Given the description of an element on the screen output the (x, y) to click on. 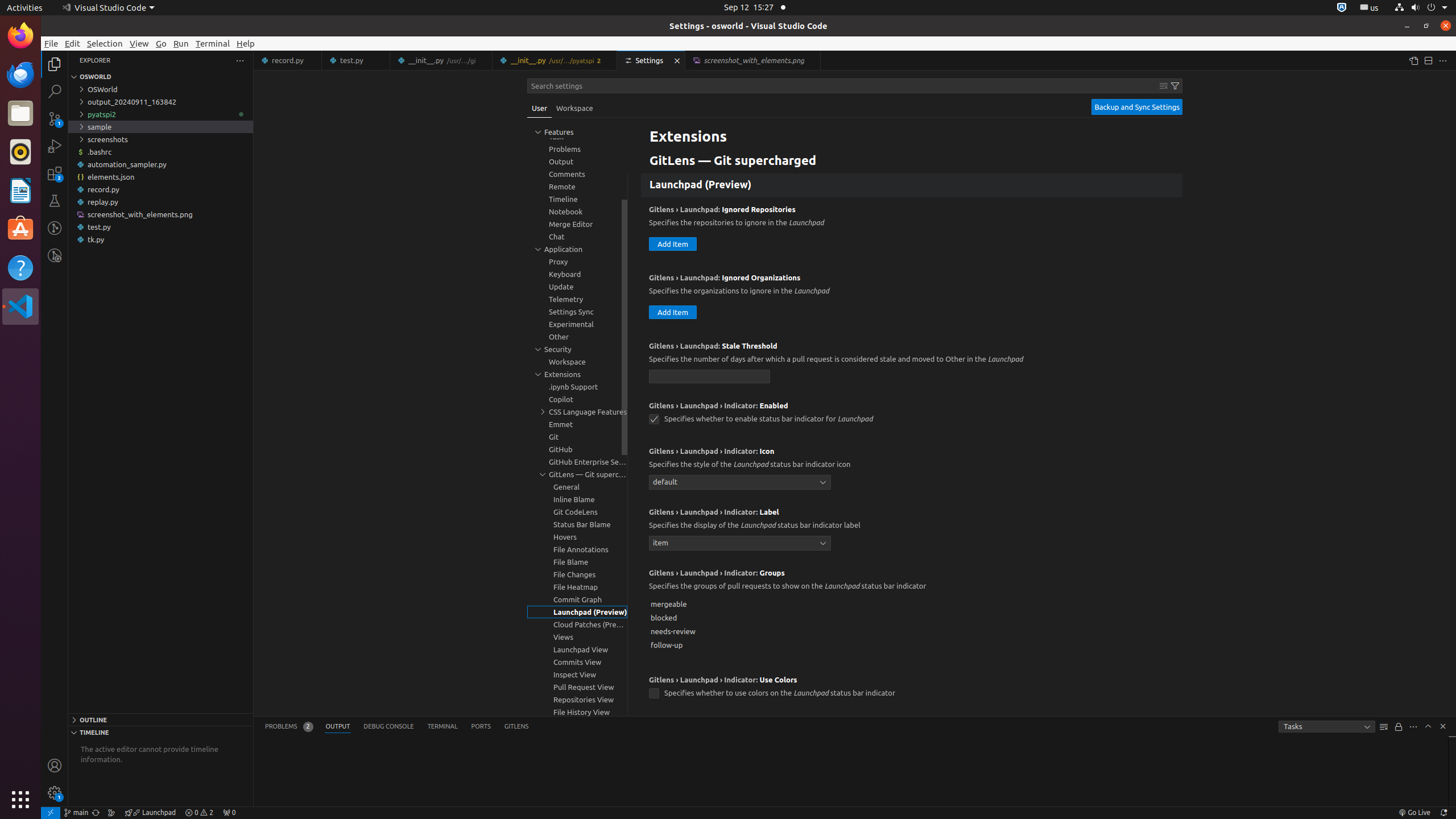
Chat, group Element type: tree-item (577, 236)
elements.json Element type: tree-item (160, 176)
Hovers, group Element type: tree-item (577, 536)
Add Item Element type: push-button (672, 151)
Commits View, group Element type: tree-item (577, 661)
